Given the description of an element on the screen output the (x, y) to click on. 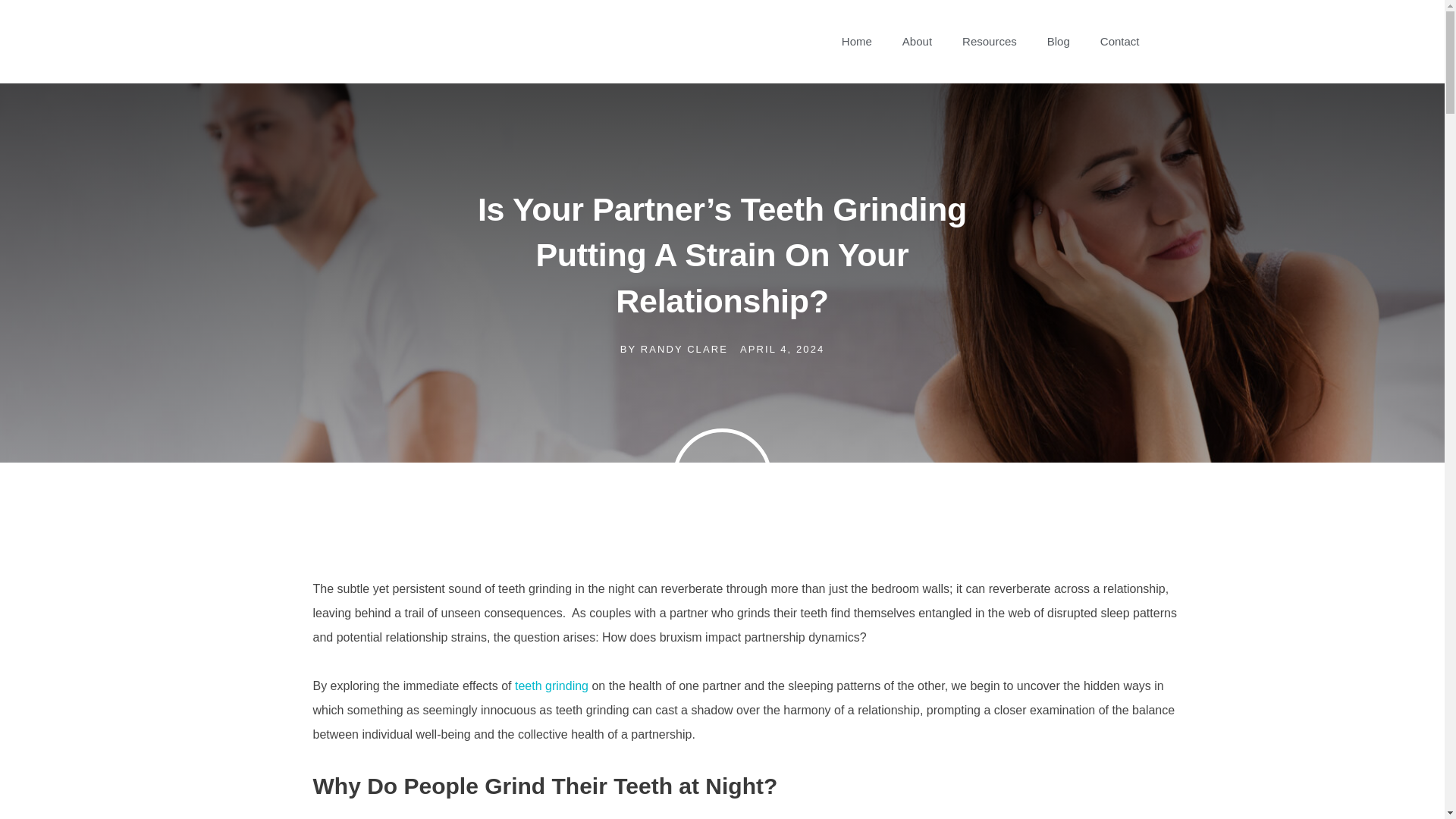
teeth grinding (551, 685)
Home (856, 41)
Resources (989, 41)
BY RANDY CLARE (674, 349)
Contact (1119, 41)
